Given the description of an element on the screen output the (x, y) to click on. 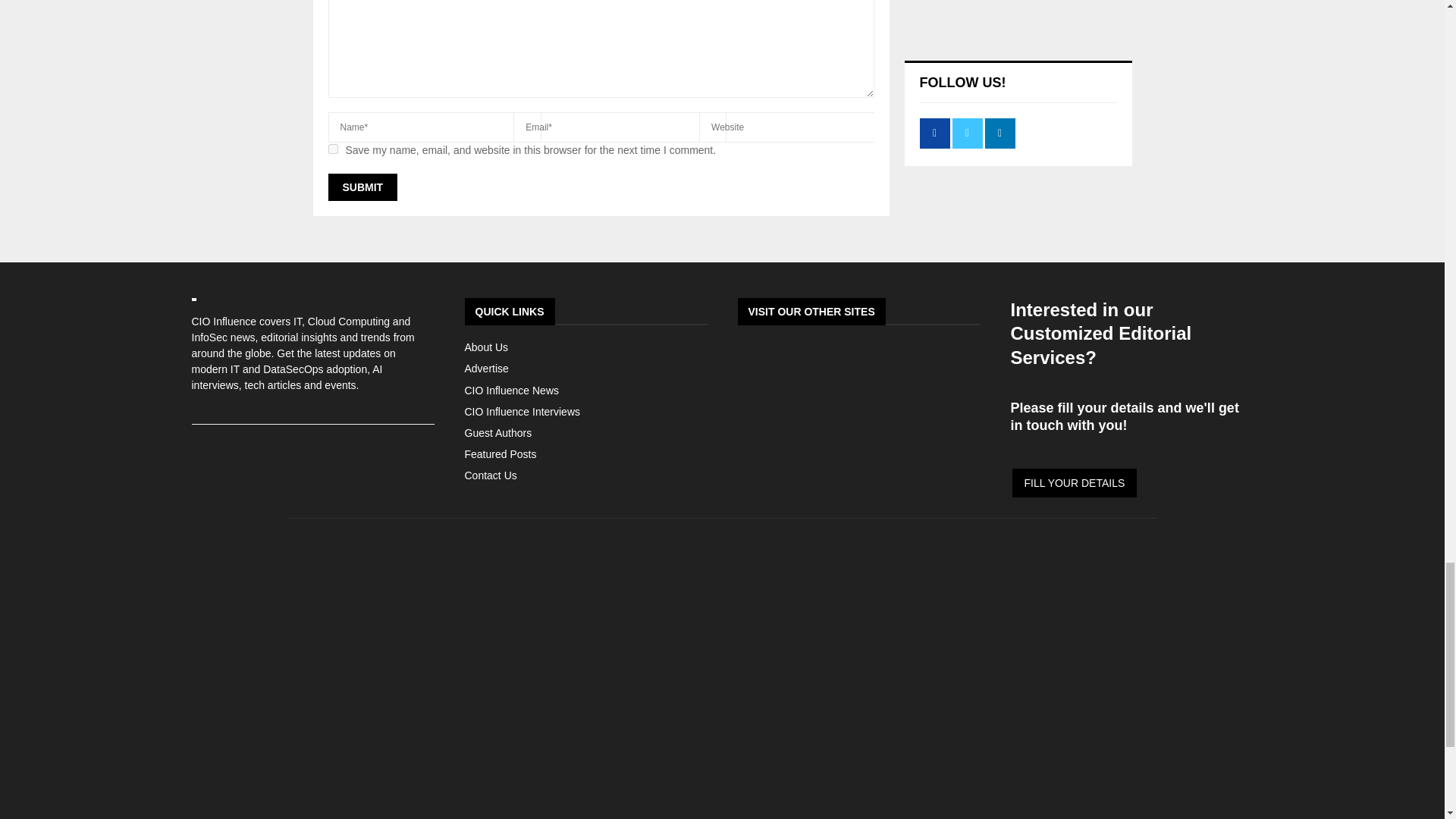
CIO Influence (721, 748)
yes (332, 148)
Submit (362, 186)
